Given the description of an element on the screen output the (x, y) to click on. 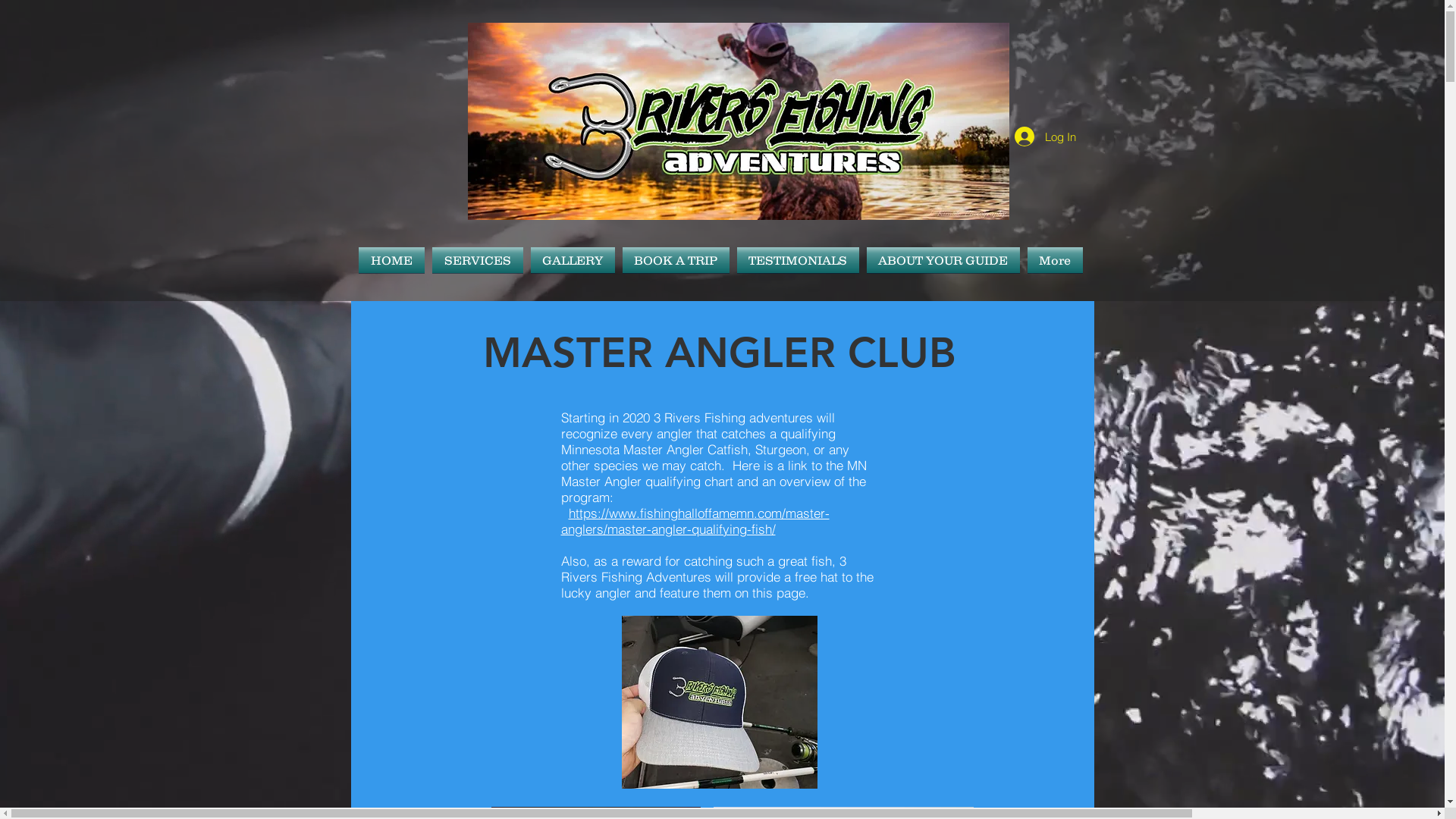
TESTIMONIALS Element type: text (797, 260)
BOOK A TRIP Element type: text (675, 260)
Log In Element type: text (1045, 136)
GALLERY Element type: text (572, 260)
ABOUT YOUR GUIDE Element type: text (942, 260)
SERVICES Element type: text (476, 260)
HOME Element type: text (392, 260)
